Given the description of an element on the screen output the (x, y) to click on. 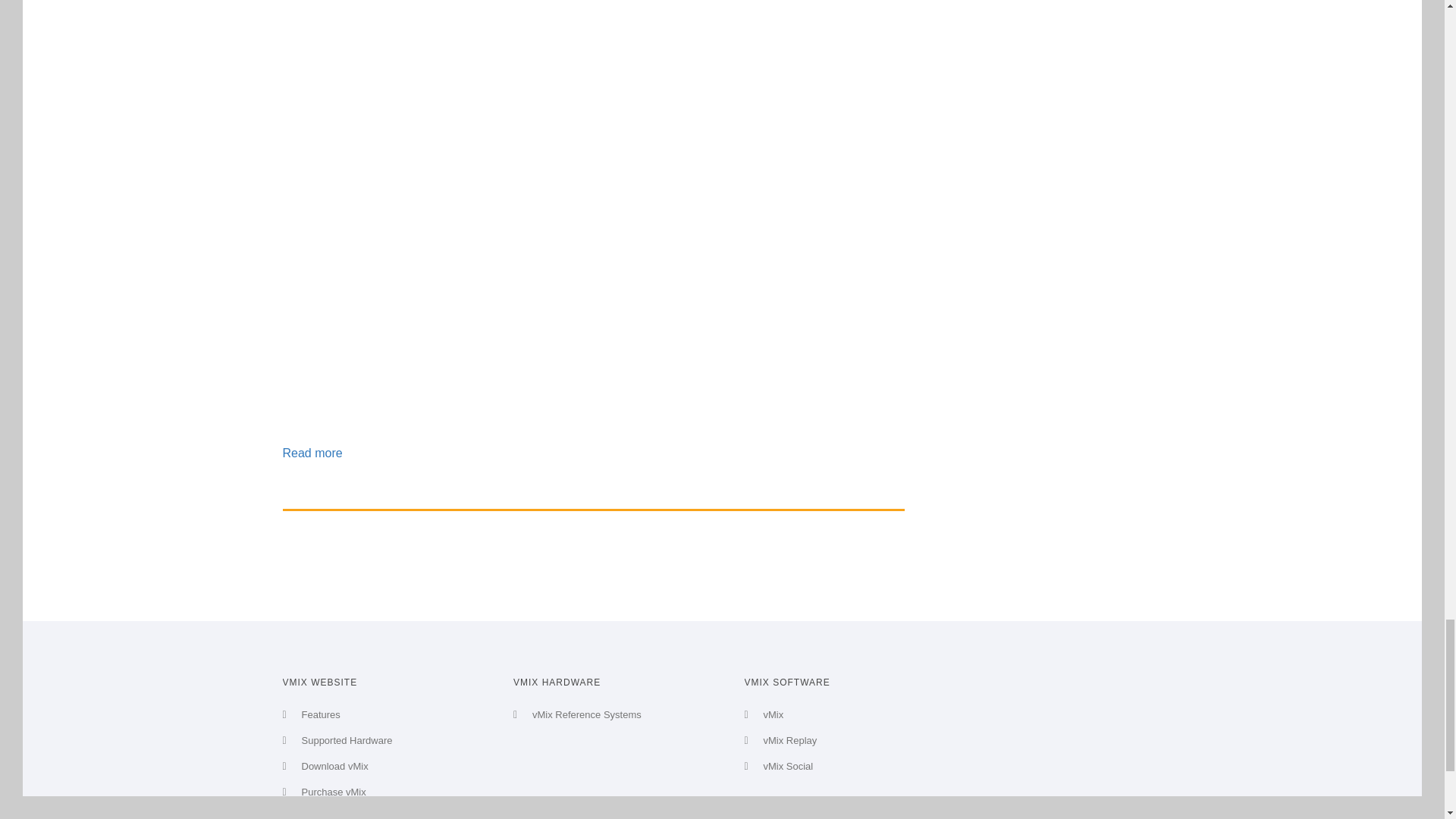
vMix 27 is here! (312, 452)
Read more (312, 452)
